Given the description of an element on the screen output the (x, y) to click on. 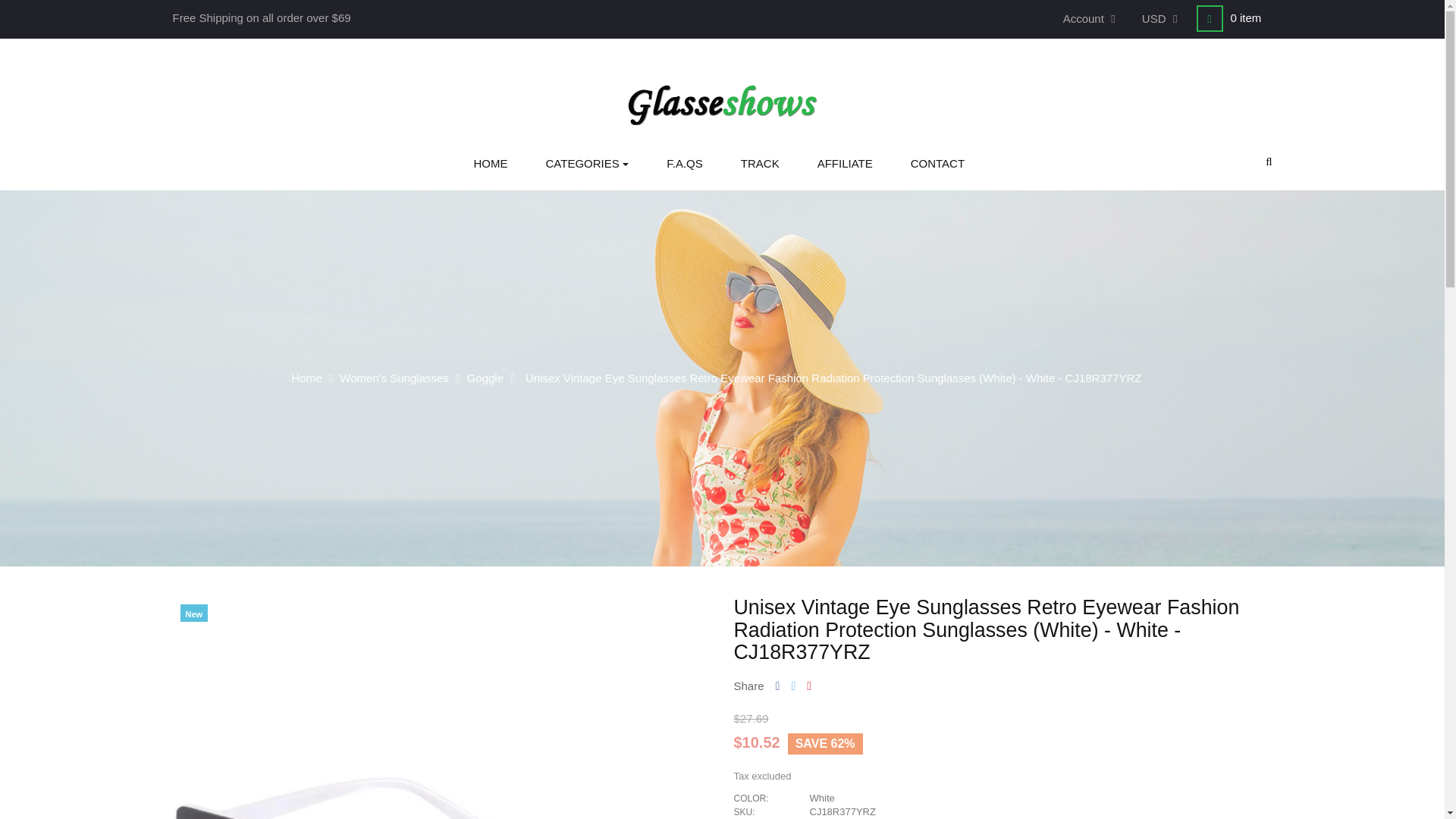
Account (1090, 19)
USD (1160, 19)
Account (1090, 19)
HOME (490, 163)
Currency (1160, 19)
CATEGORIES (587, 163)
